Given the description of an element on the screen output the (x, y) to click on. 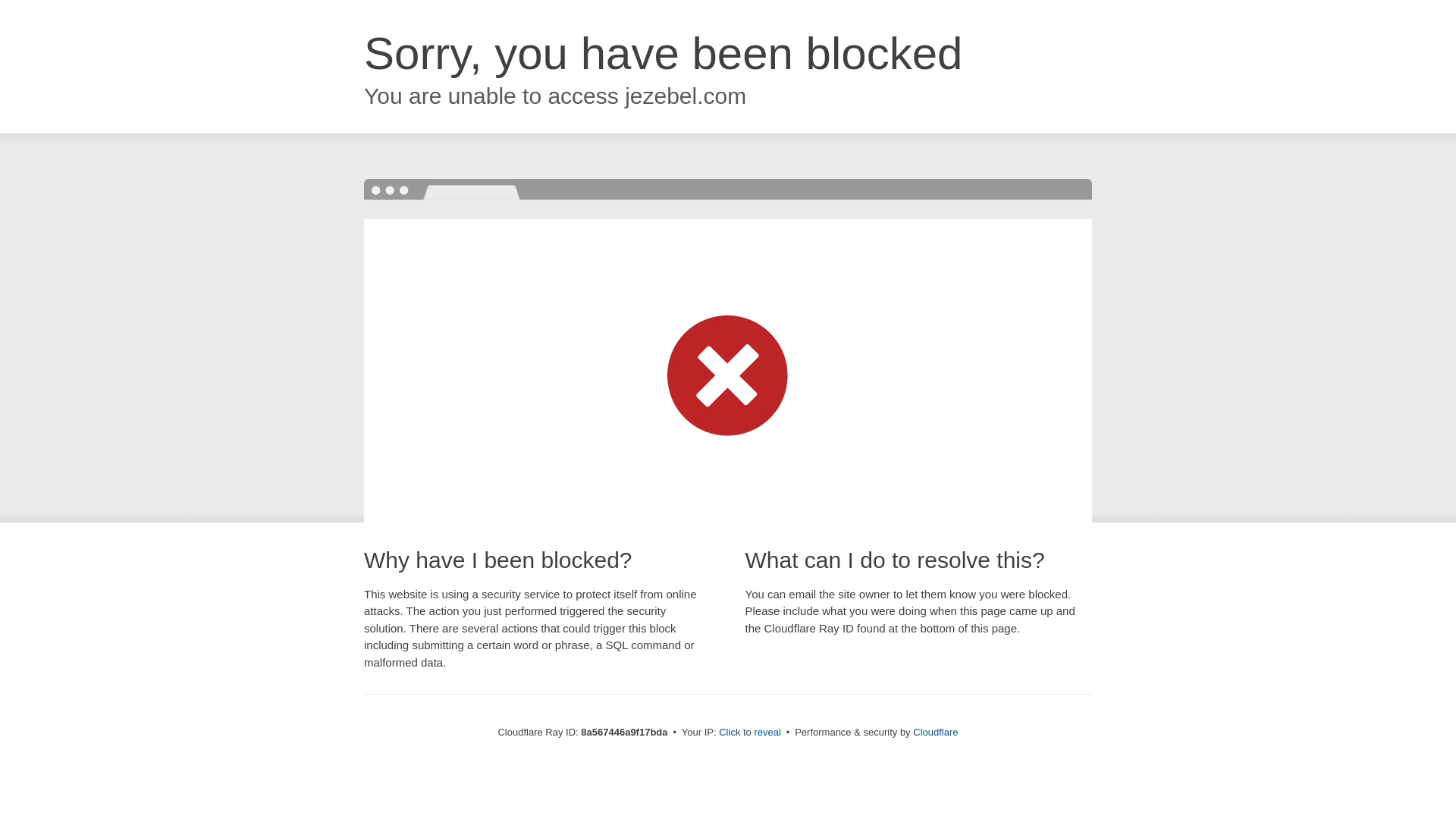
Click to reveal (749, 732)
Cloudflare (935, 731)
